Given the description of an element on the screen output the (x, y) to click on. 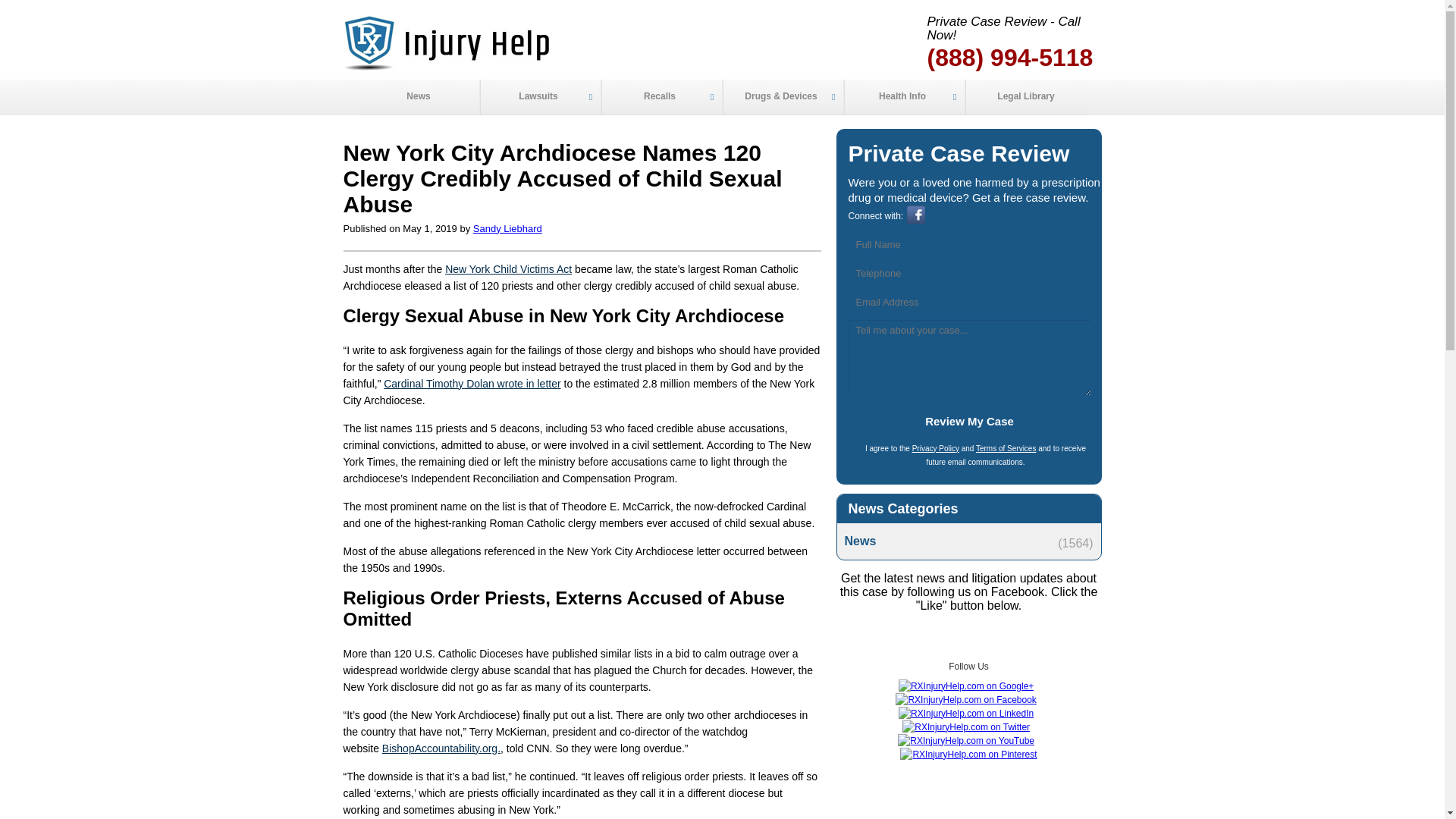
Lawsuits (539, 97)
News (968, 540)
Legal Library (1024, 97)
New York Child Victims Act (508, 268)
Sandy Liebhard (507, 228)
RXInjuryHelp.com on YouTube (965, 740)
Review My Case (968, 421)
RXInjuryHelp.com on Pinterest (967, 754)
RXInjuryHelp.com on Twitter (965, 726)
Cardinal Timothy Dolan wrote in letter (472, 383)
